Given the description of an element on the screen output the (x, y) to click on. 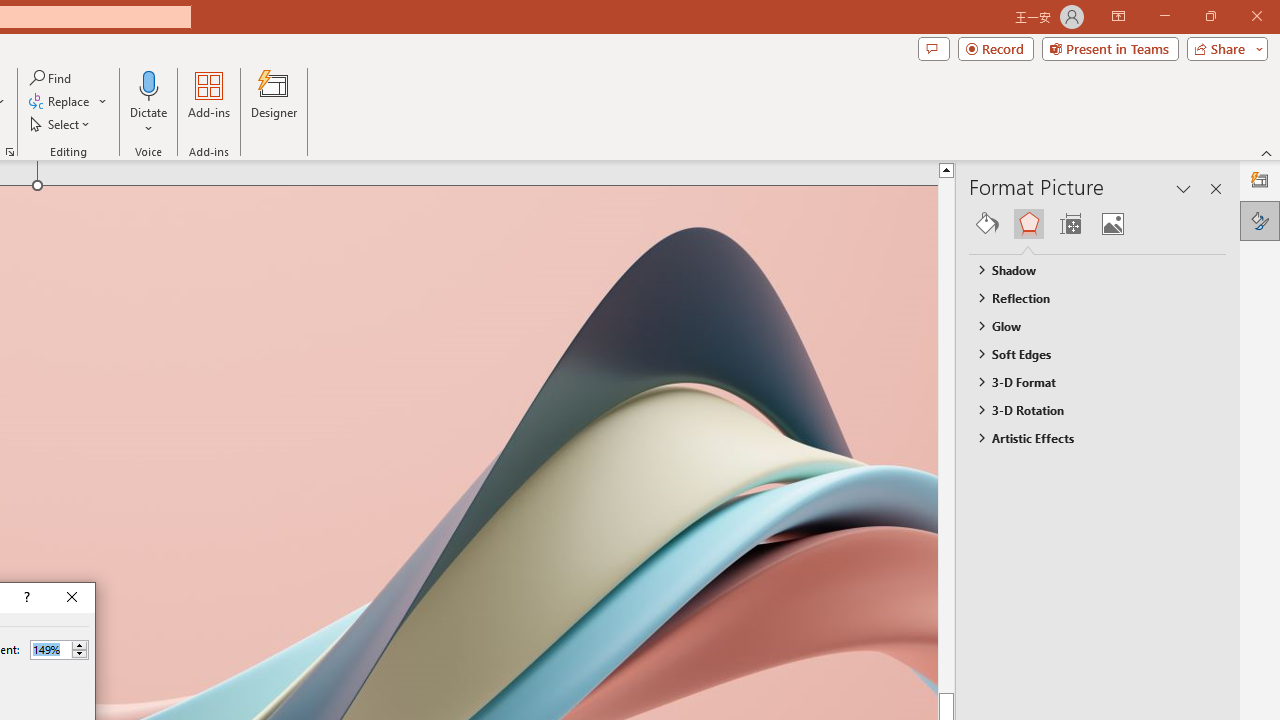
Format Picture (1260, 220)
Soft Edges (1088, 353)
Class: NetUIGalleryContainer (1098, 223)
Percent (50, 649)
